Given the description of an element on the screen output the (x, y) to click on. 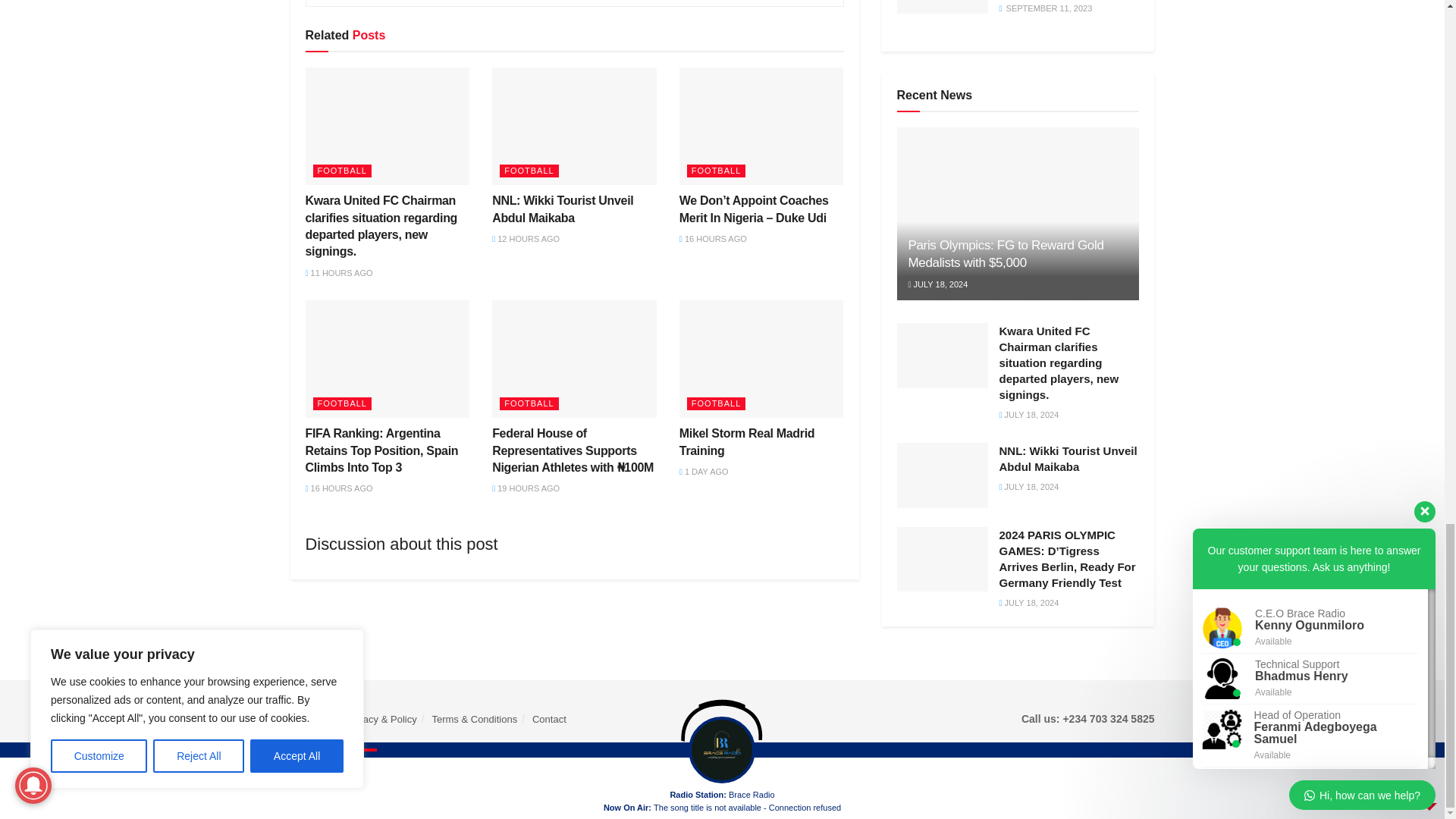
Jegtheme (543, 777)
Brace Radio (346, 777)
